Given the description of an element on the screen output the (x, y) to click on. 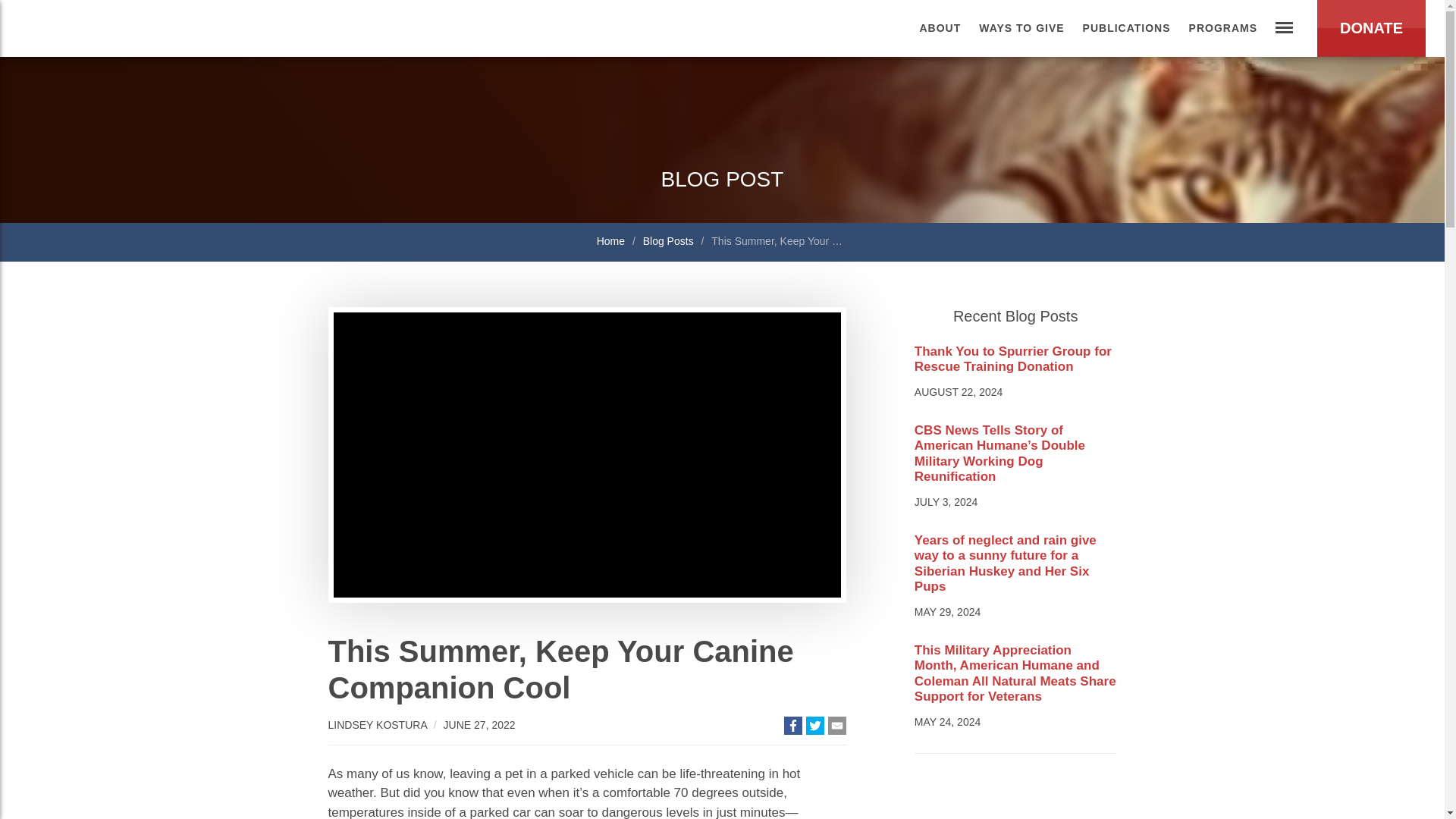
icon-email (836, 725)
icon-facebook (793, 725)
DONATE (1371, 28)
Home (611, 241)
PROGRAMS (1222, 28)
Go to Home (611, 241)
icon-twitter (815, 725)
icon-facebook (792, 725)
Go to Blog Posts (670, 241)
